Given the description of an element on the screen output the (x, y) to click on. 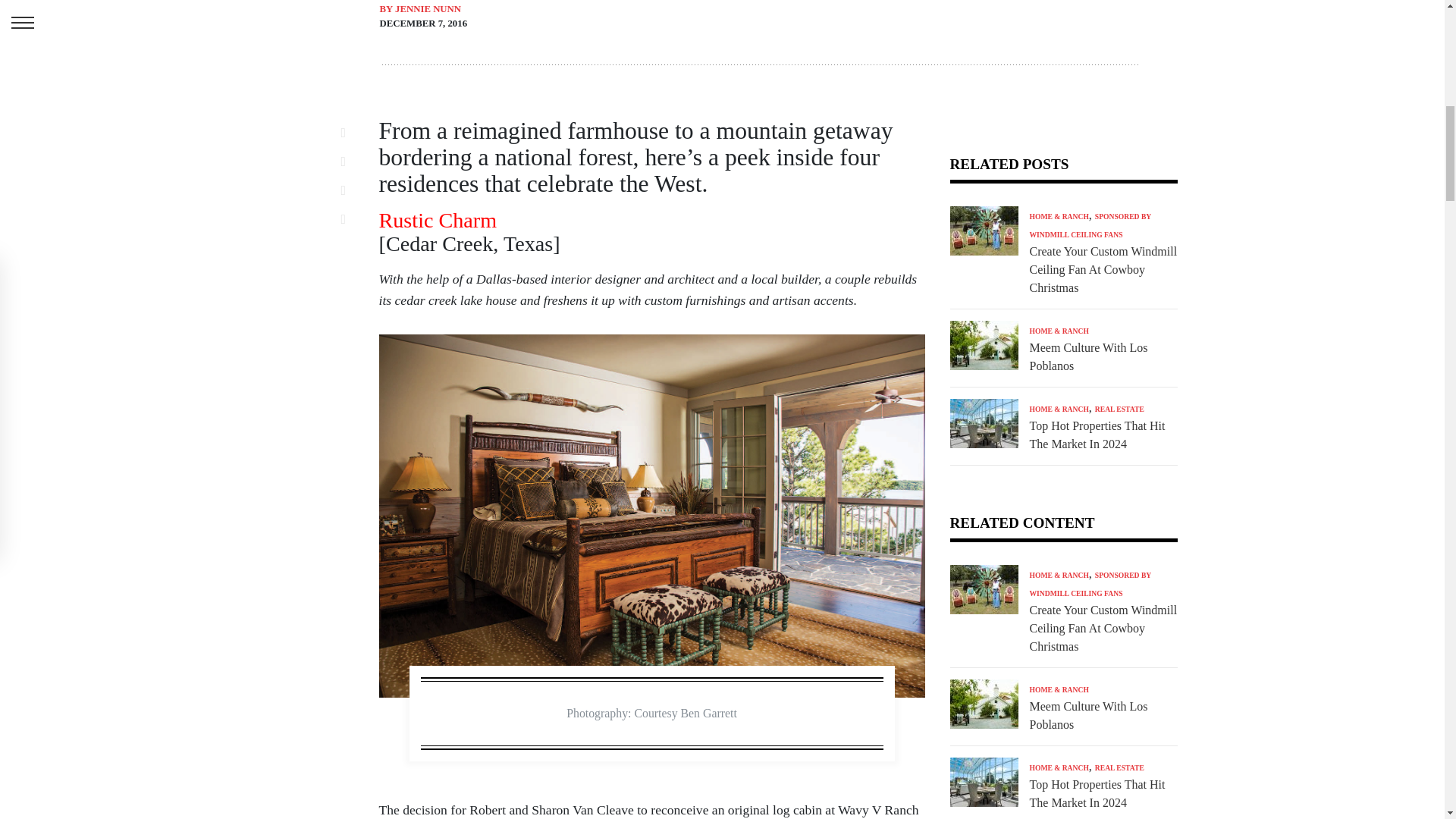
Tweet This Post (352, 160)
Share by Email (352, 219)
Share on Facebook (352, 132)
